Given the description of an element on the screen output the (x, y) to click on. 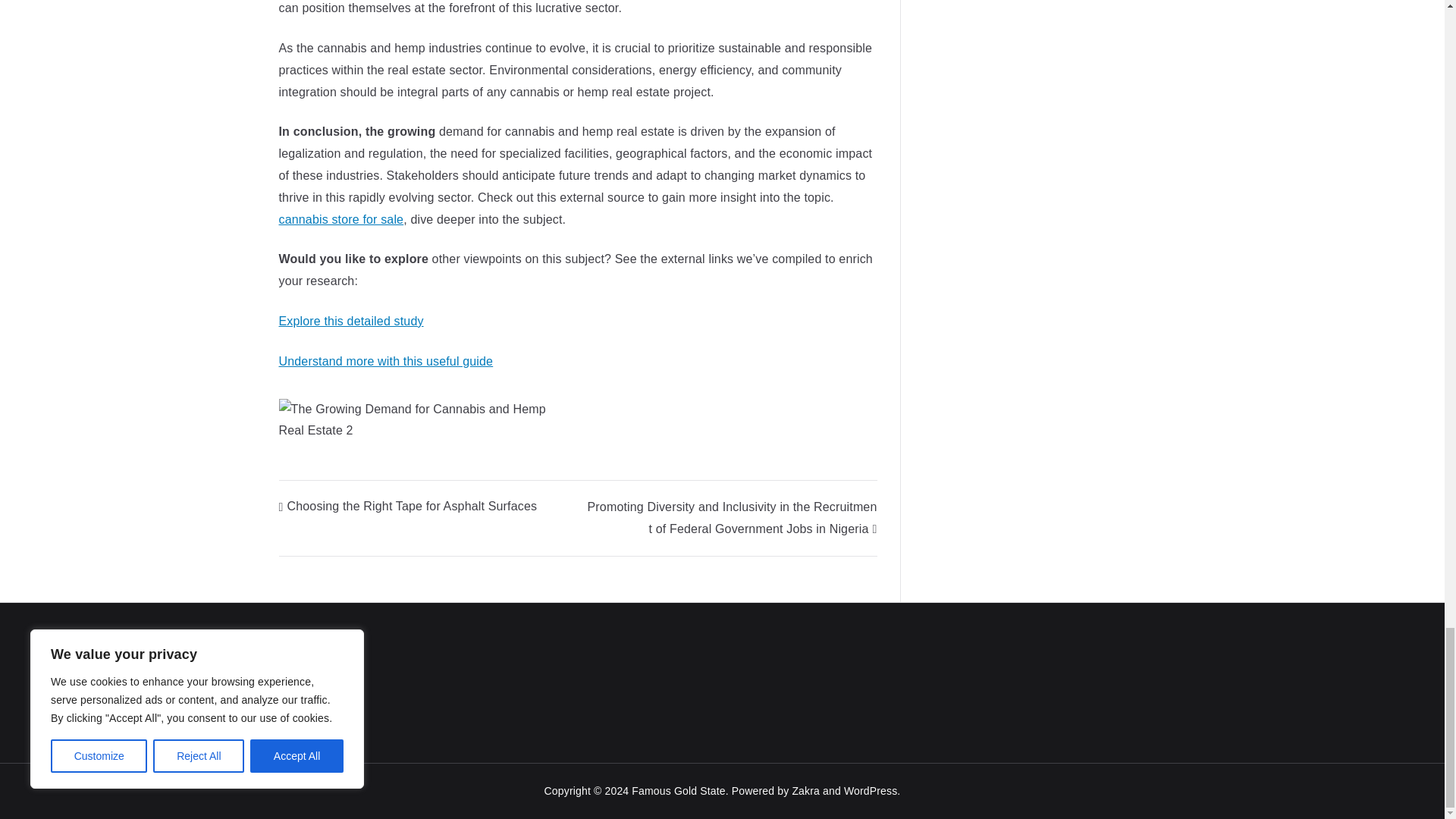
Explore this detailed study (351, 320)
Famous Gold State (678, 790)
Zakra (805, 790)
Understand more with this useful guide (386, 360)
Choosing the Right Tape for Asphalt Surfaces (408, 505)
cannabis store for sale (341, 219)
WordPress (870, 790)
